Given the description of an element on the screen output the (x, y) to click on. 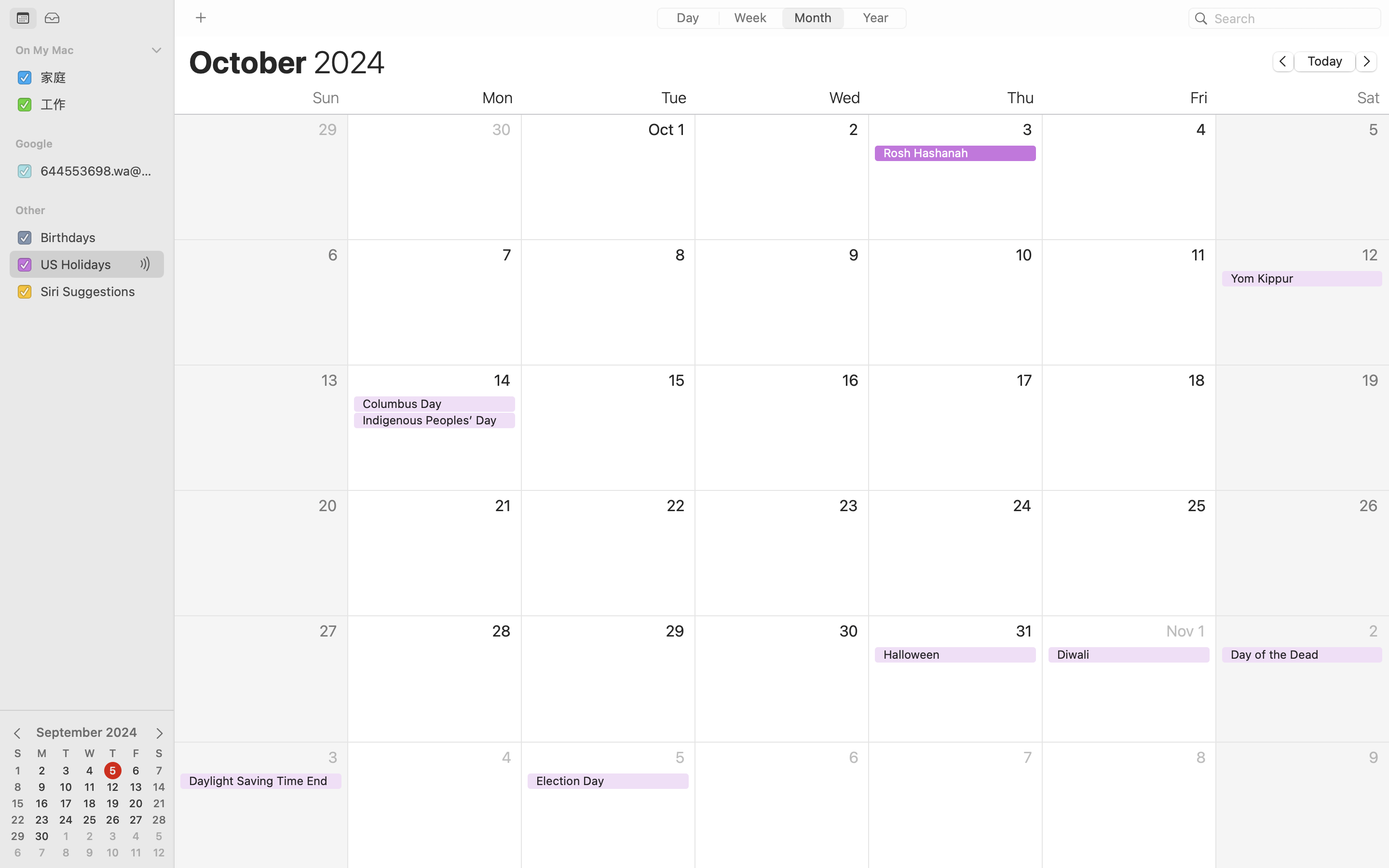
18 Element type: AXStaticText (89, 803)
22 Element type: AXStaticText (17, 820)
7 Element type: AXStaticText (41, 852)
工作 Element type: AXTextField (98, 103)
24 Element type: AXStaticText (66, 820)
